Given the description of an element on the screen output the (x, y) to click on. 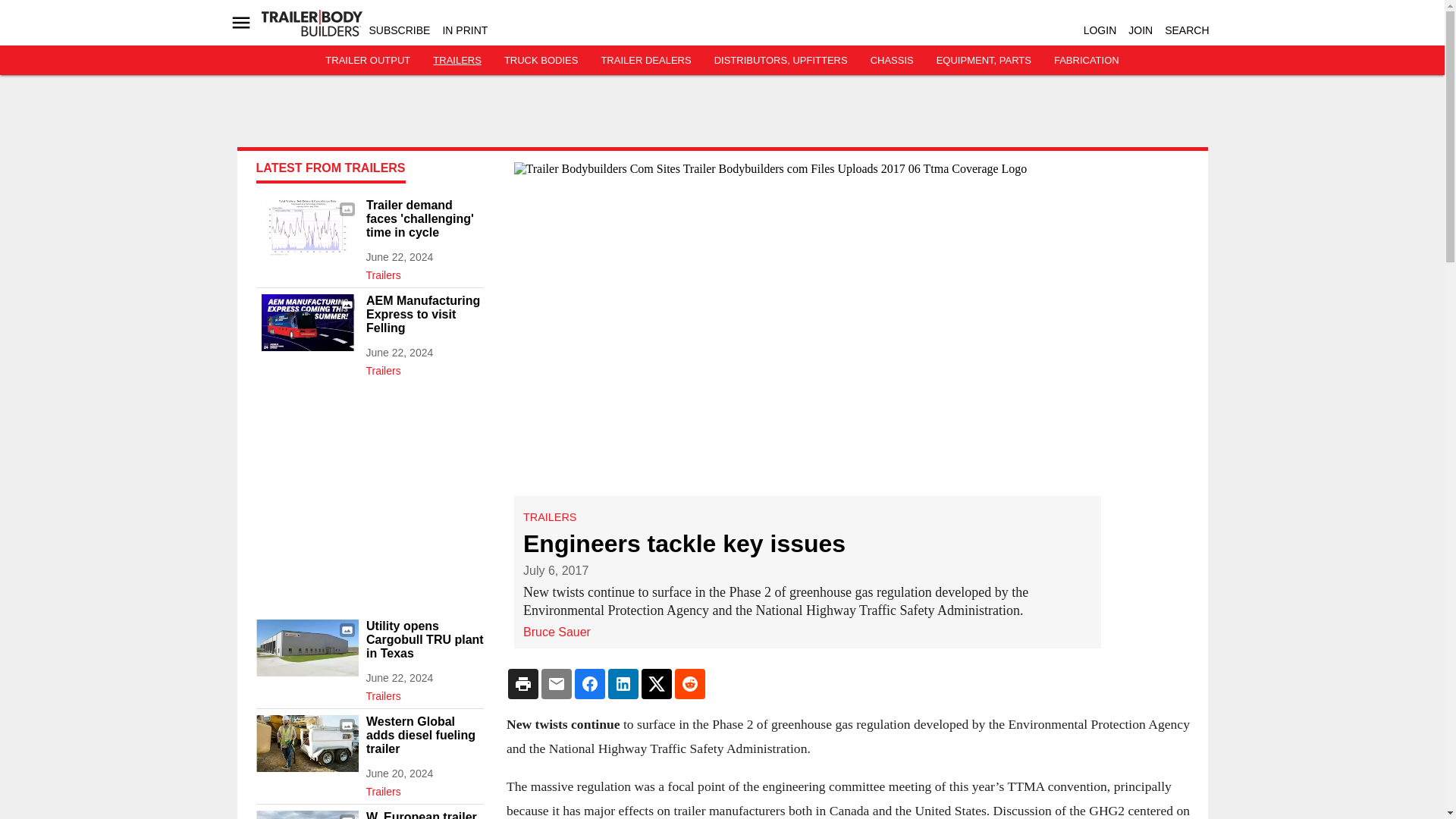
TRUCK BODIES (540, 60)
Trailers (424, 271)
SEARCH (1186, 30)
IN PRINT (464, 30)
EQUIPMENT, PARTS (983, 60)
TRAILERS (456, 60)
JOIN (1140, 30)
LOGIN (1099, 30)
FABRICATION (1086, 60)
CHASSIS (892, 60)
SUBSCRIBE (398, 30)
DISTRIBUTORS, UPFITTERS (780, 60)
TRAILER OUTPUT (367, 60)
TRAILER DEALERS (644, 60)
